Given the description of an element on the screen output the (x, y) to click on. 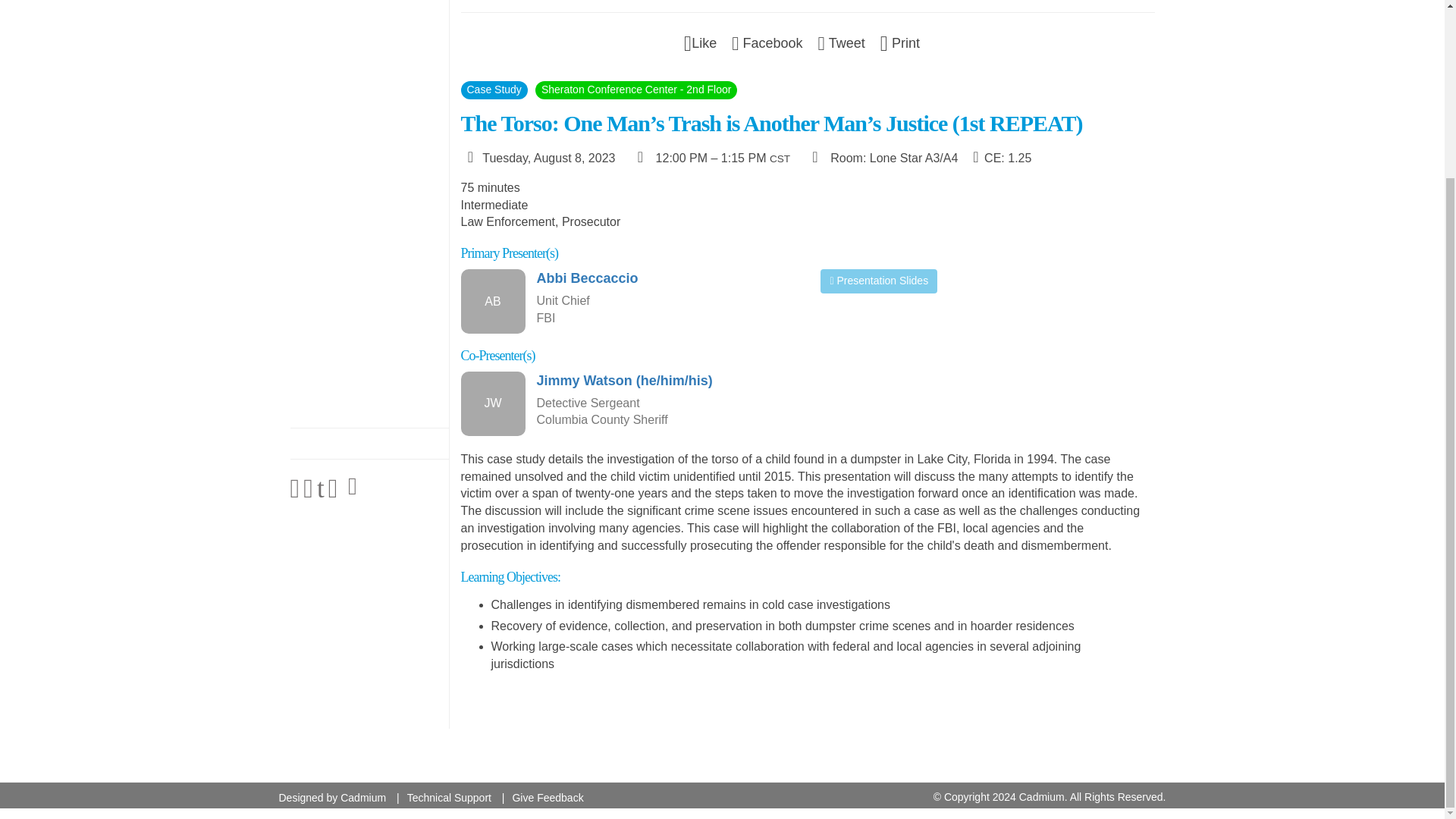
Technical Support (449, 797)
Print (900, 43)
Presentation Slides (879, 281)
Abbi Beccaccio (667, 279)
Tweet (841, 43)
Cadmium (362, 797)
Facebook (767, 43)
Give Feedback (547, 797)
Post this to Facebook (767, 43)
Post this presentation (841, 43)
